Given the description of an element on the screen output the (x, y) to click on. 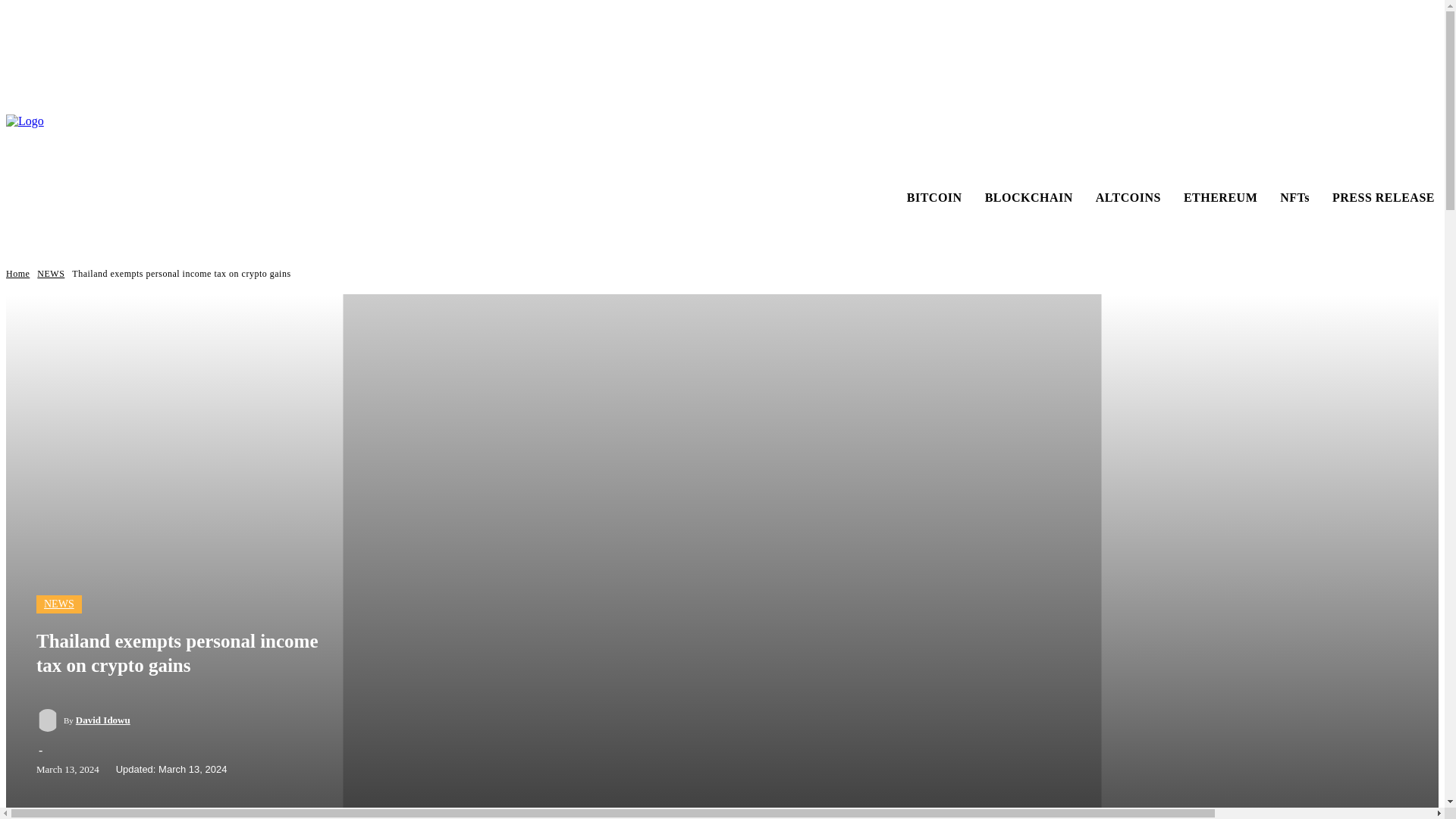
BLOCKCHAIN (1029, 197)
BITCOIN (934, 197)
ALTCOINS (1128, 197)
NEWS (58, 604)
David Idowu (103, 720)
PRESS RELEASE (1382, 197)
ETHEREUM (1219, 197)
NFTs (1294, 197)
View all posts in NEWS (50, 273)
Home (17, 273)
